Given the description of an element on the screen output the (x, y) to click on. 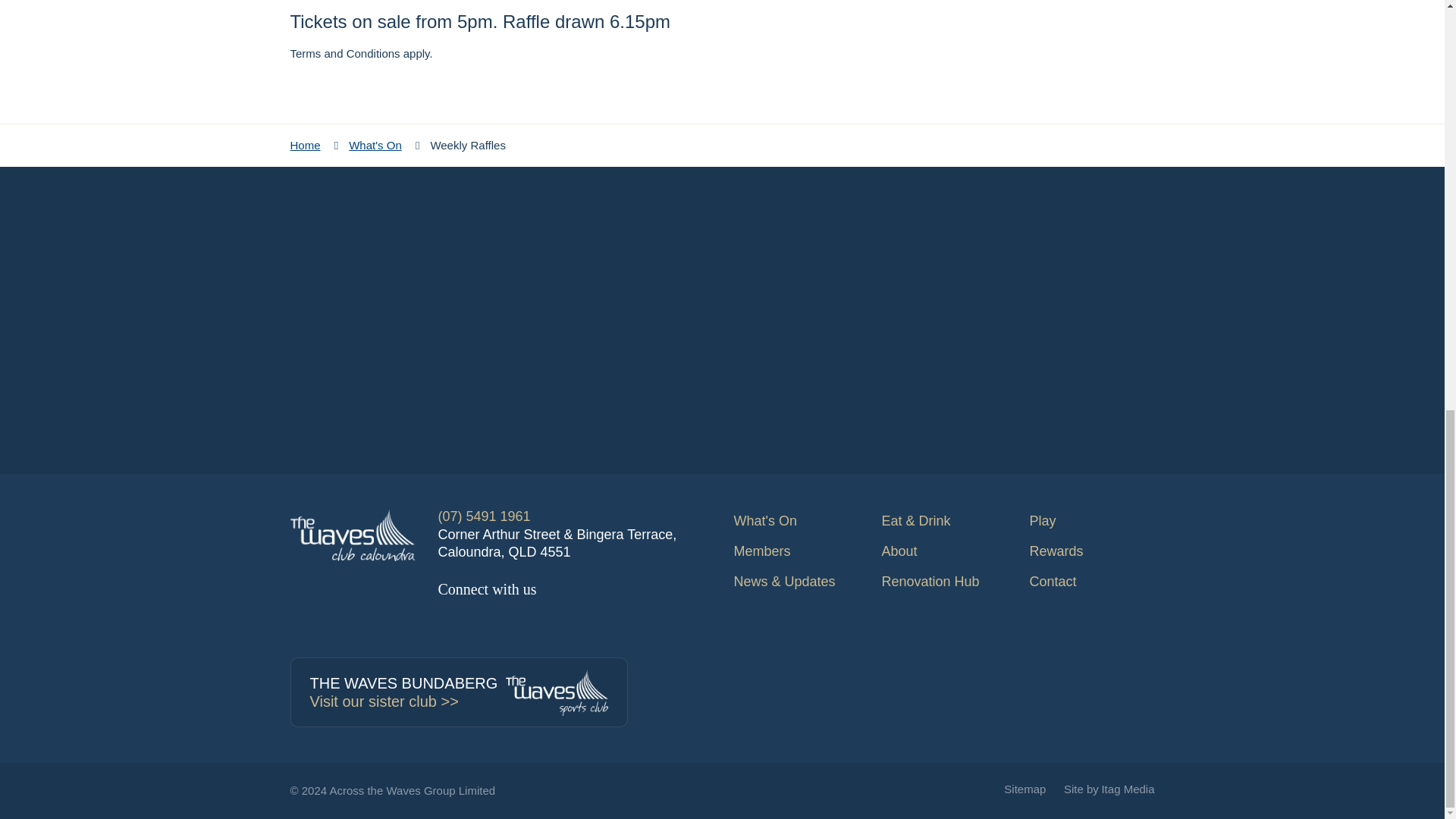
facebook (449, 622)
linkedin (516, 622)
pinterest (583, 622)
What's On (375, 144)
twitter (483, 622)
Home (304, 144)
googleplus (549, 622)
What's On (796, 520)
instagram (616, 622)
